Given the description of an element on the screen output the (x, y) to click on. 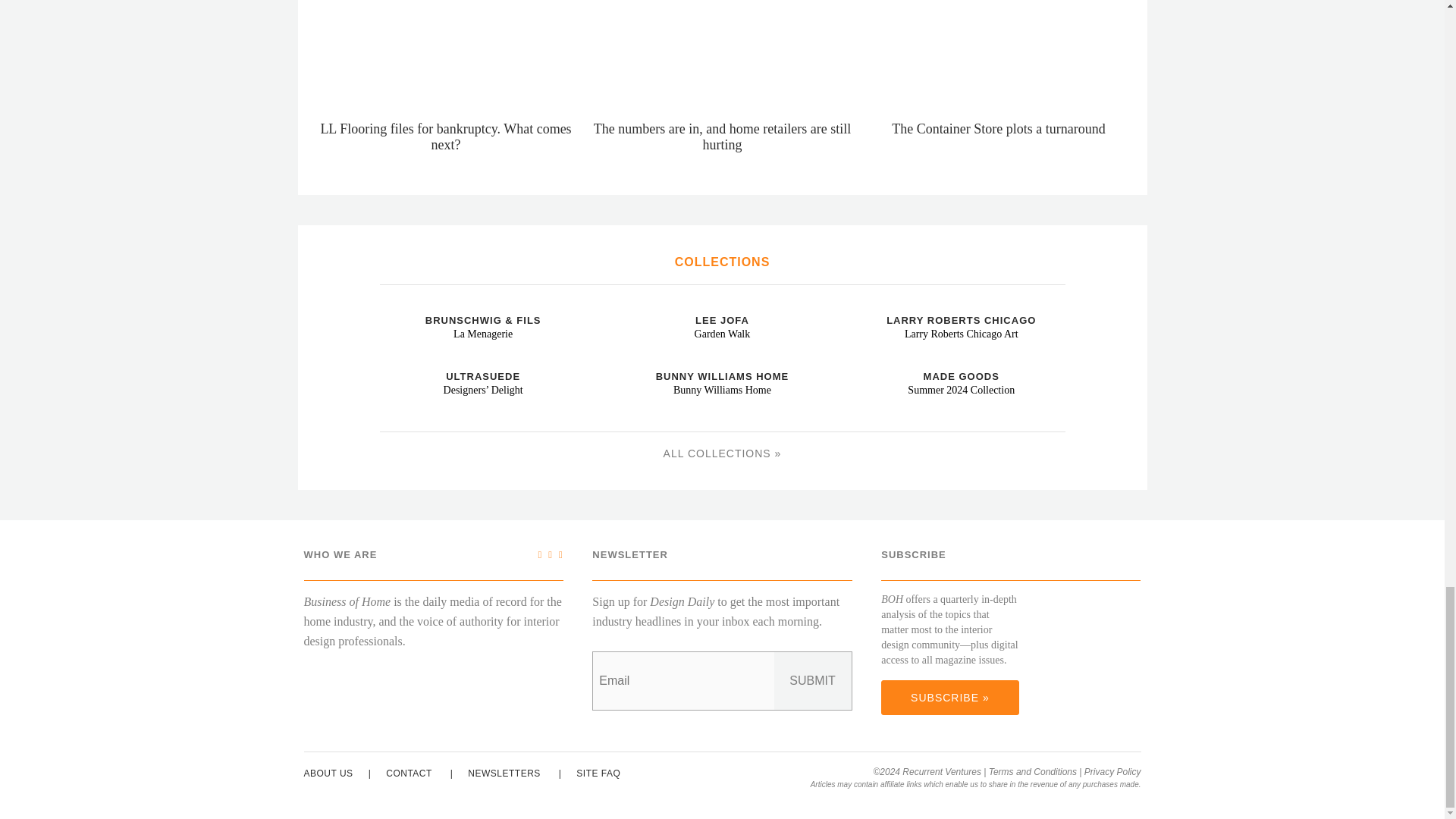
La Menagerie (384, 306)
Garden Walk (624, 306)
Larry Roberts Chicago Art (863, 306)
Summer 2024 Collection (863, 364)
